Given the description of an element on the screen output the (x, y) to click on. 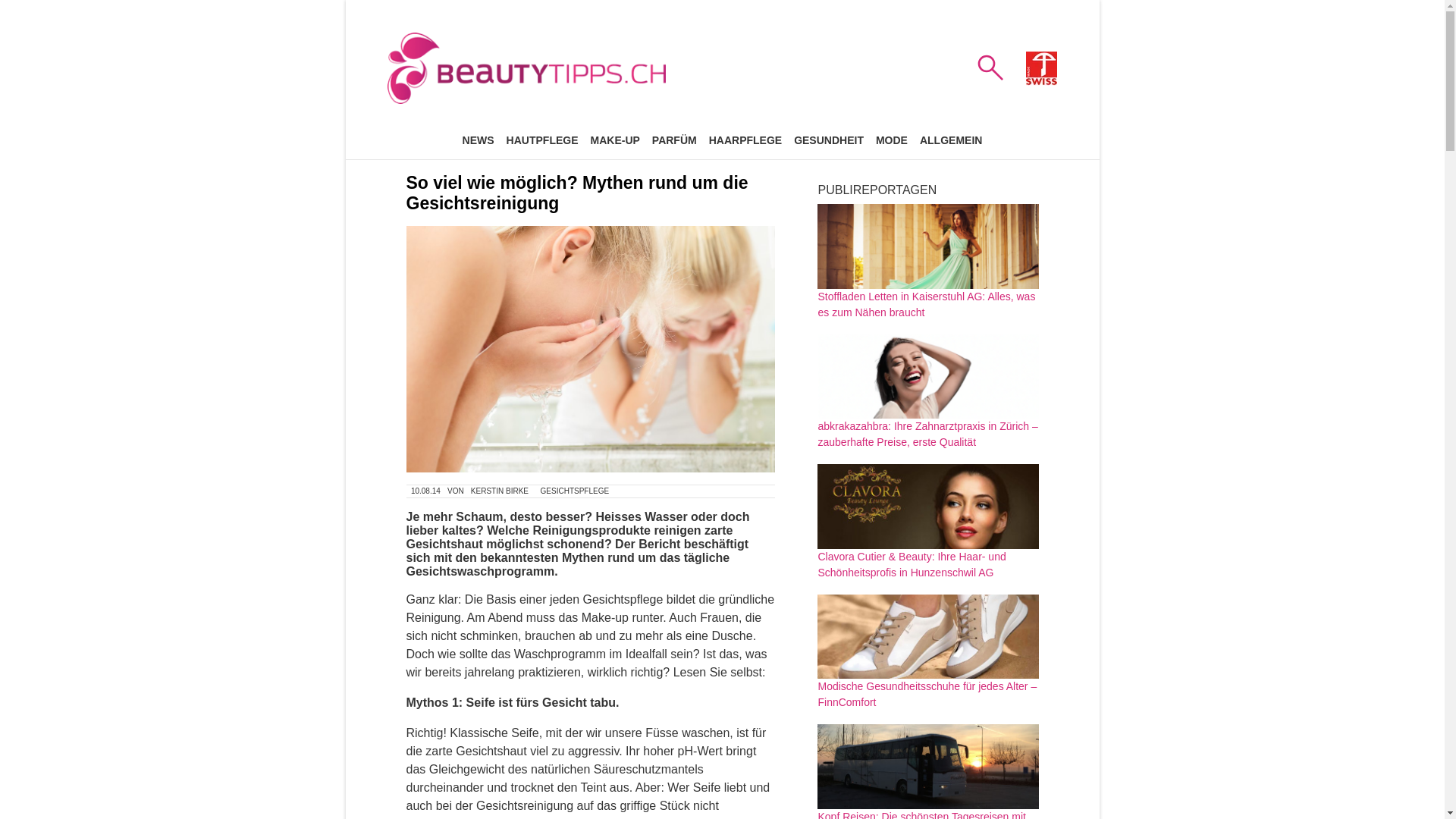
GESUNDHEIT Element type: text (828, 140)
ALLGEMEIN Element type: text (950, 140)
GESICHTSPFLEGE Element type: text (574, 491)
MODE Element type: text (891, 140)
MAKE-UP Element type: text (614, 140)
HAUTPFLEGE Element type: text (542, 140)
10.08.14 Element type: text (425, 491)
HAARPFLEGE Element type: text (744, 140)
KERSTIN BIRKE Element type: text (499, 491)
NEWS Element type: text (478, 140)
